Given the description of an element on the screen output the (x, y) to click on. 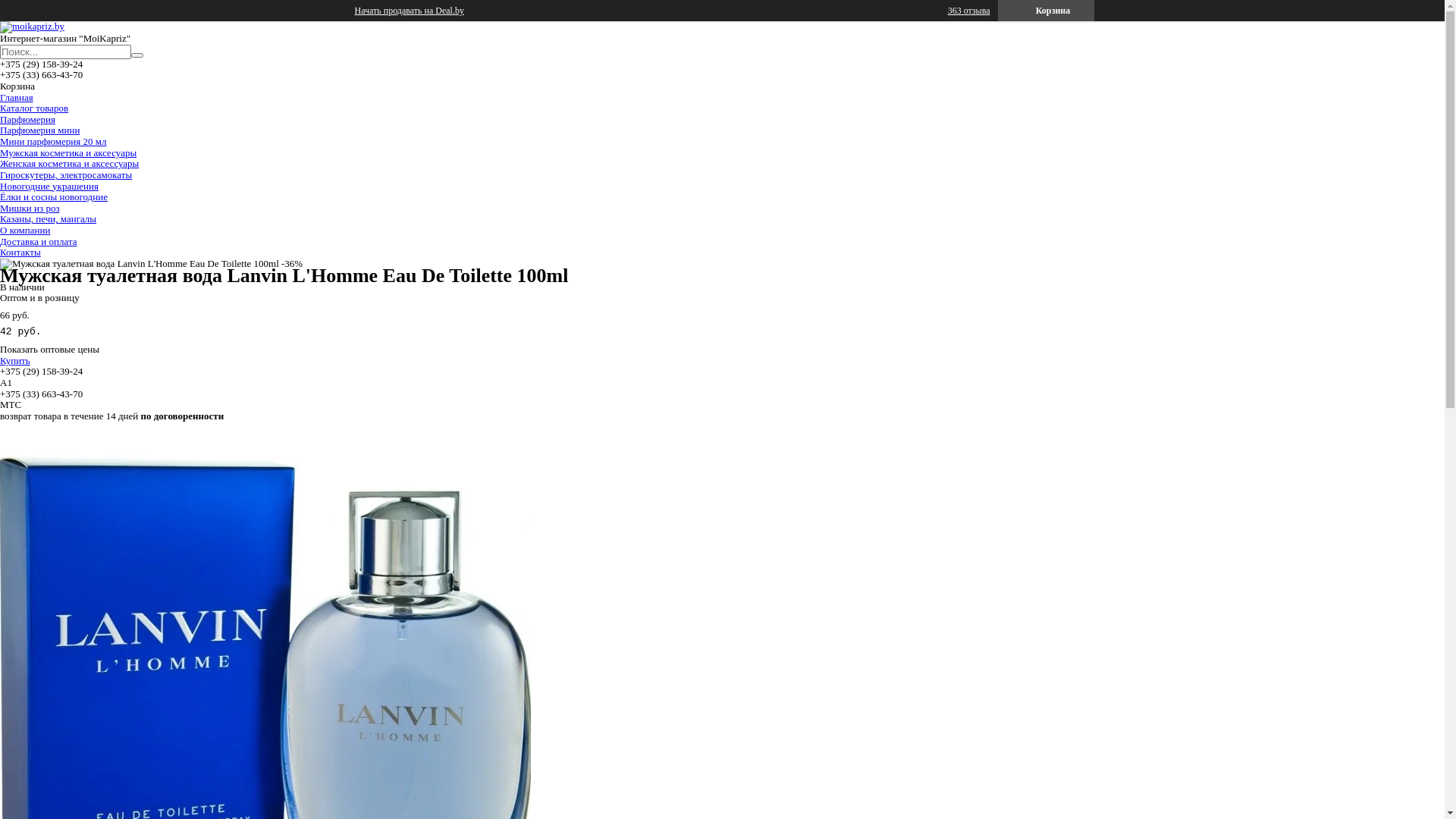
moikapriz.by Element type: hover (32, 25)
